Given the description of an element on the screen output the (x, y) to click on. 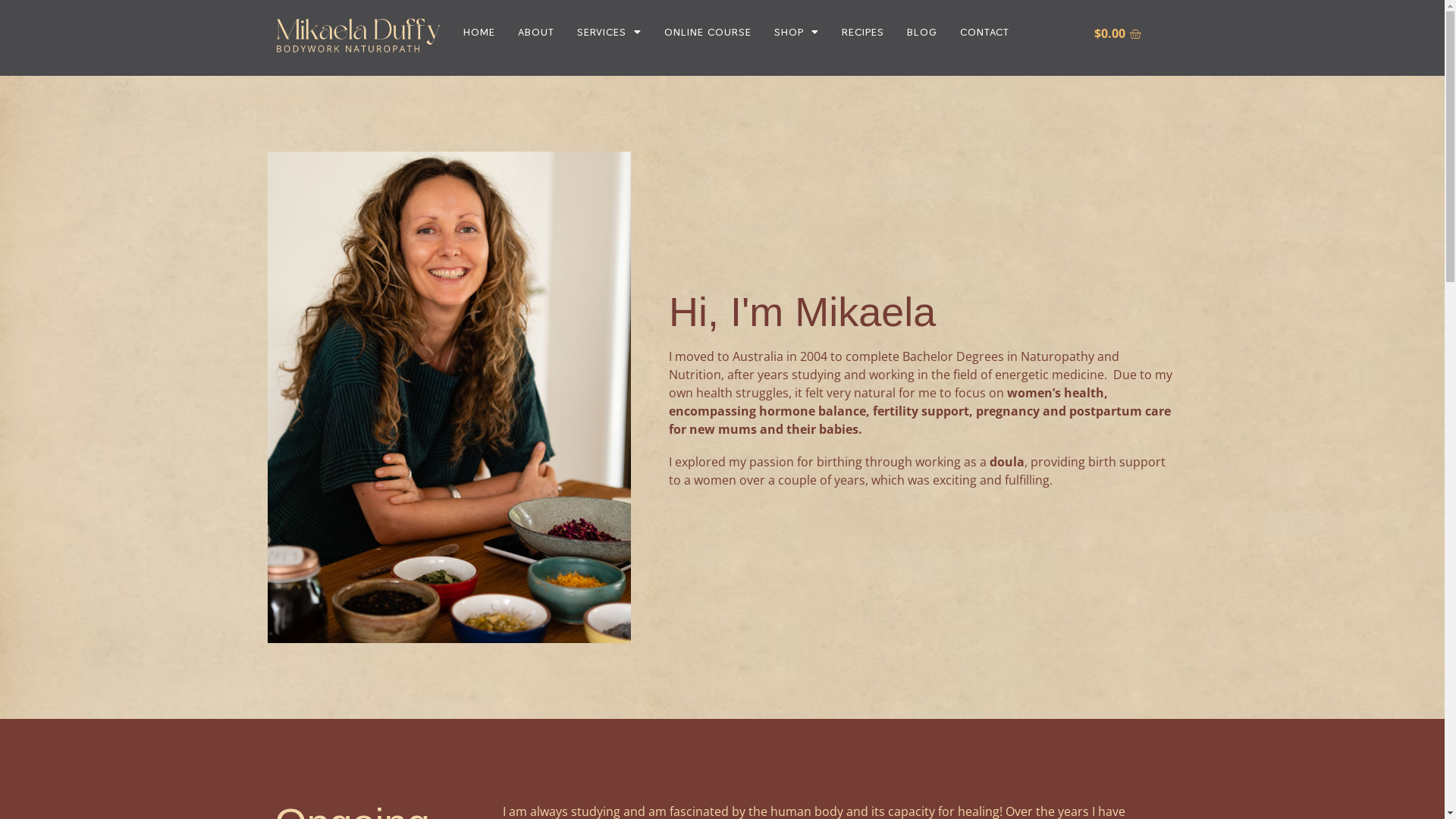
CONTACT Element type: text (984, 32)
BLOG Element type: text (921, 32)
ONLINE COURSE Element type: text (707, 32)
SERVICES Element type: text (609, 32)
SHOP Element type: text (796, 32)
HOME Element type: text (478, 32)
$0.00 Element type: text (1117, 33)
ABOUT Element type: text (535, 32)
RECIPES Element type: text (862, 32)
